Given the description of an element on the screen output the (x, y) to click on. 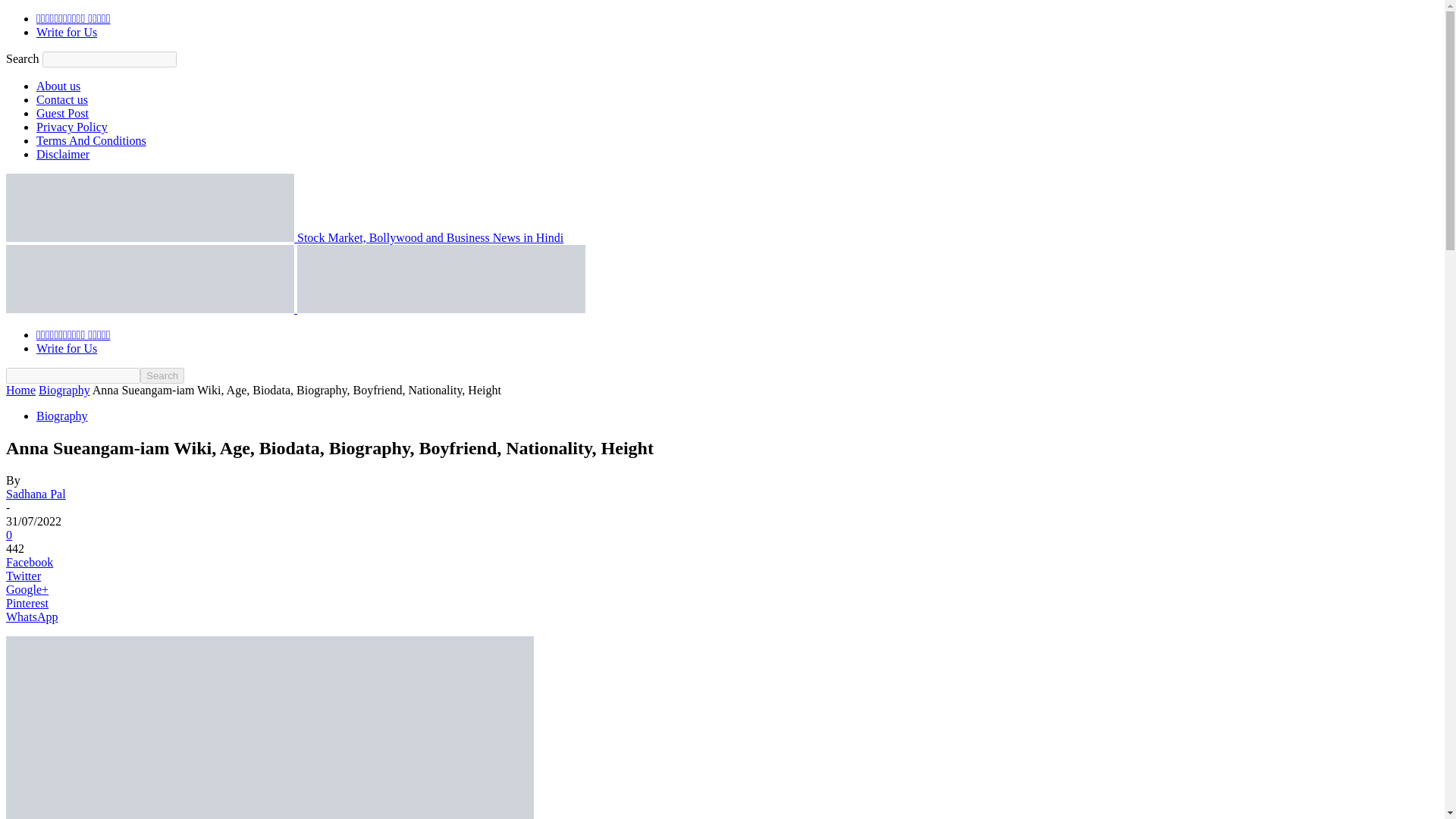
Anna Sueangam (269, 727)
About us (58, 85)
Write for Us (66, 348)
Home (19, 390)
Contact us (61, 99)
Search (161, 375)
Privacy Policy (71, 126)
View all posts in Biography (64, 390)
Disclaimer (62, 154)
Terms And Conditions (91, 140)
Sadhana Pal (35, 493)
Search (161, 375)
Stock Market, Bollywood and Business News in Hindi (284, 237)
Guest Post (62, 113)
Write for Us (66, 31)
